Given the description of an element on the screen output the (x, y) to click on. 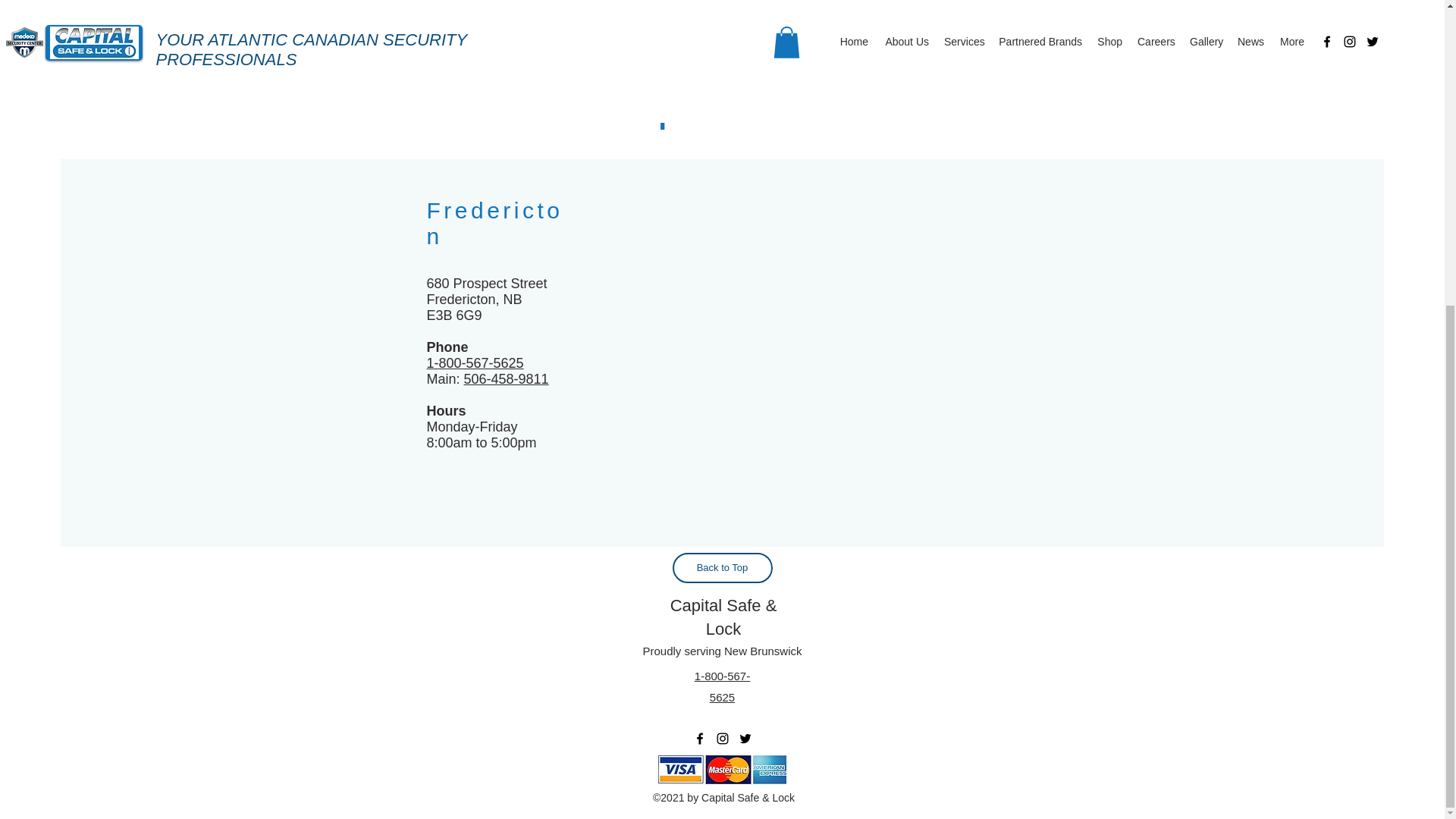
1-800-567-5625 (474, 363)
Back to Top (721, 567)
1-800-567-5625 (721, 686)
506-458-9811 (506, 378)
